Given the description of an element on the screen output the (x, y) to click on. 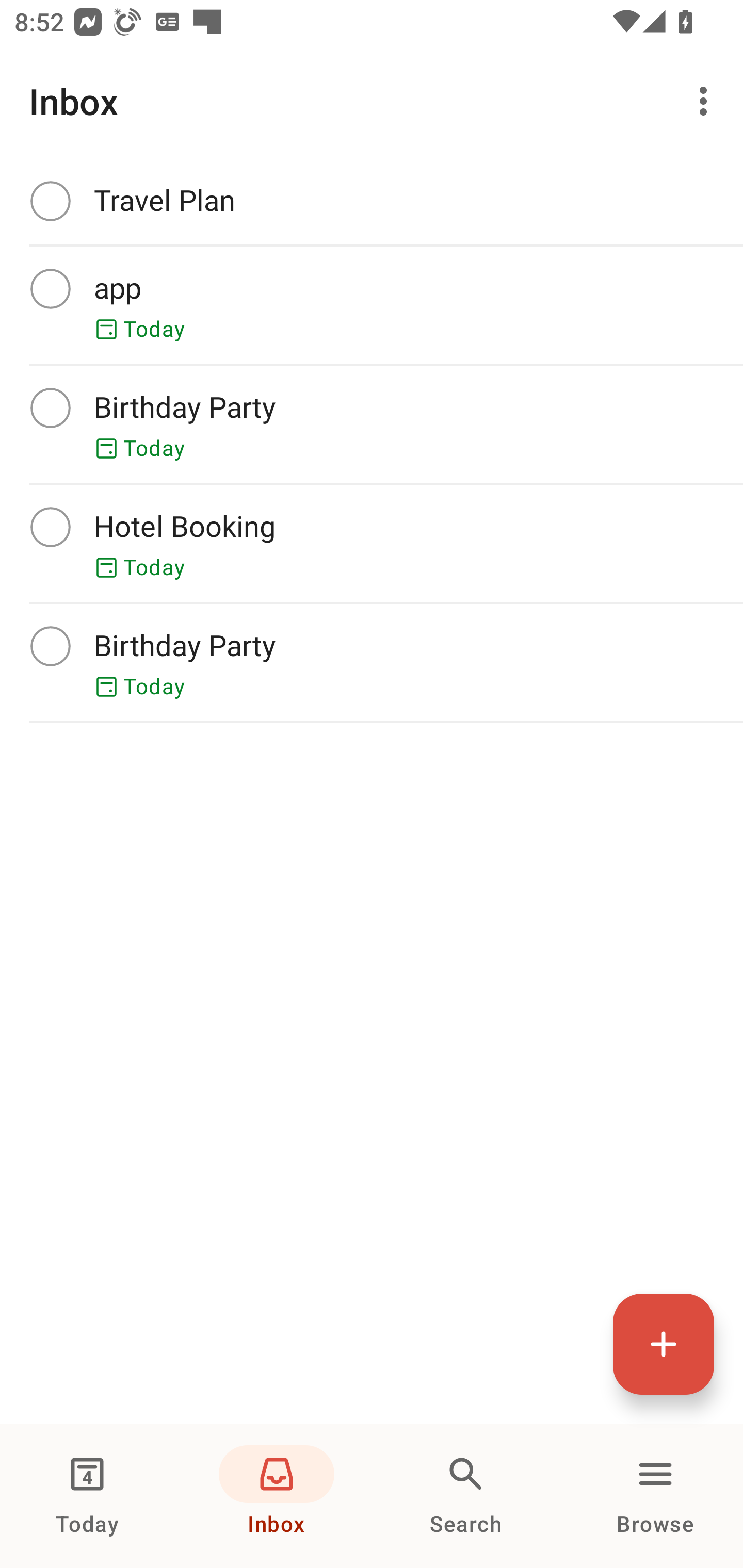
Inbox More options (371, 100)
More options (706, 101)
Complete Travel Plan (371, 201)
Complete (50, 200)
Complete app Today (371, 304)
Complete (50, 288)
Complete Birthday Party Today (371, 423)
Complete (50, 407)
Complete Hotel Booking Today (371, 543)
Complete (50, 526)
Complete Birthday Party Today (371, 662)
Complete (50, 645)
Quick add (663, 1343)
Today (87, 1495)
Search (465, 1495)
Browse (655, 1495)
